Given the description of an element on the screen output the (x, y) to click on. 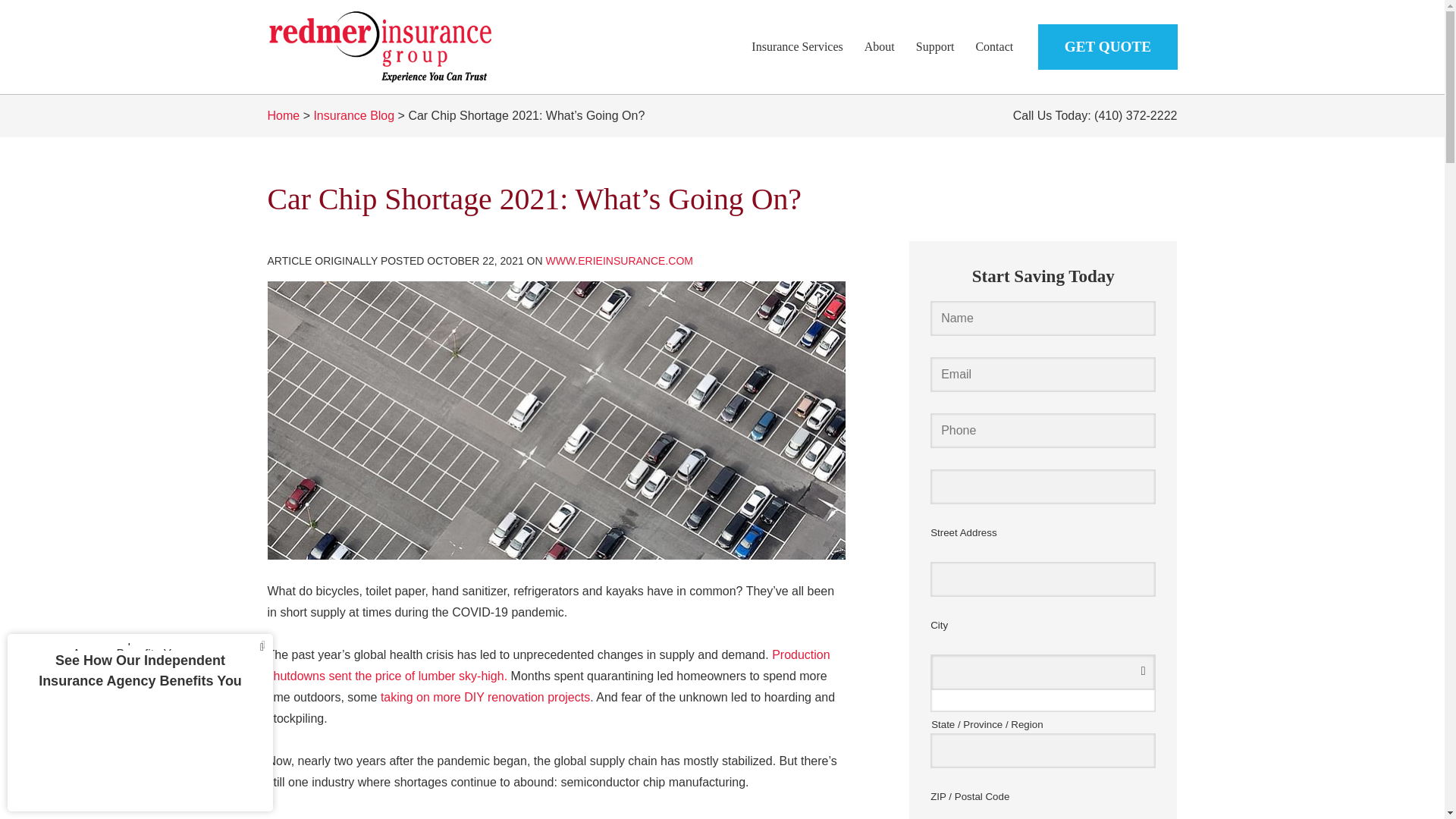
Redmer Insurance Group (380, 46)
Support (935, 46)
Home Page (411, 46)
About (879, 46)
Insurance Services (797, 46)
